Given the description of an element on the screen output the (x, y) to click on. 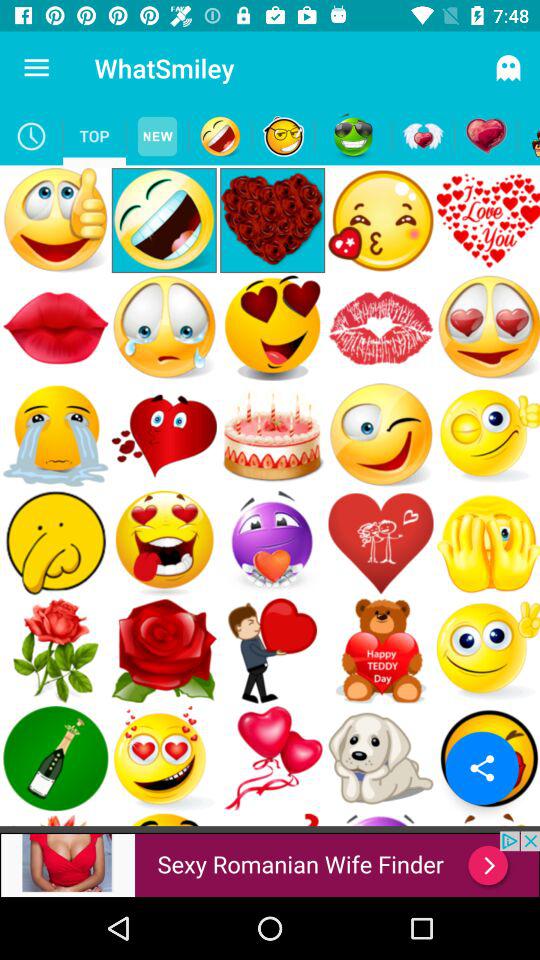
share (482, 768)
